Given the description of an element on the screen output the (x, y) to click on. 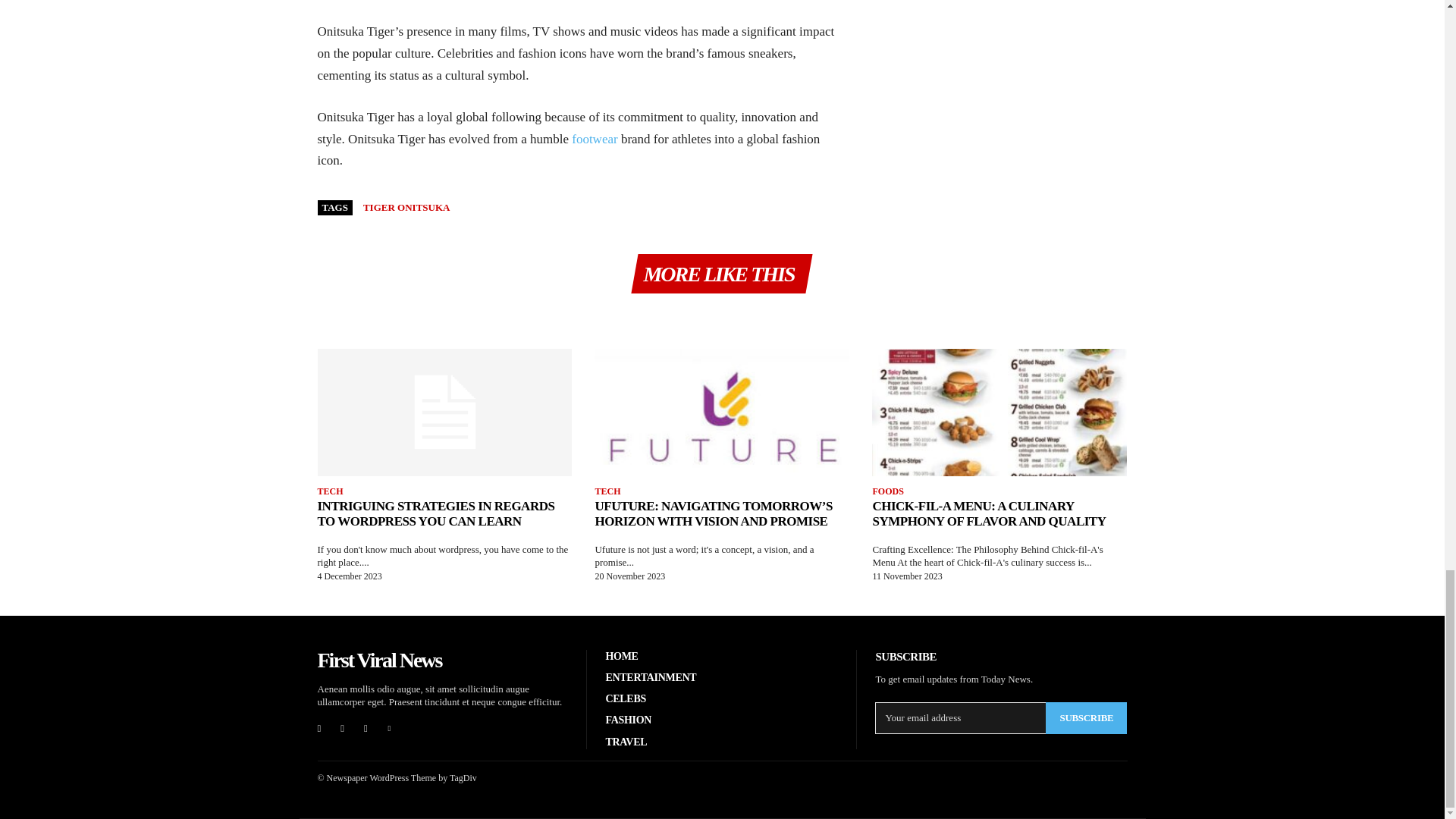
TIGER ONITSUKA (405, 206)
footwear (594, 138)
